Given the description of an element on the screen output the (x, y) to click on. 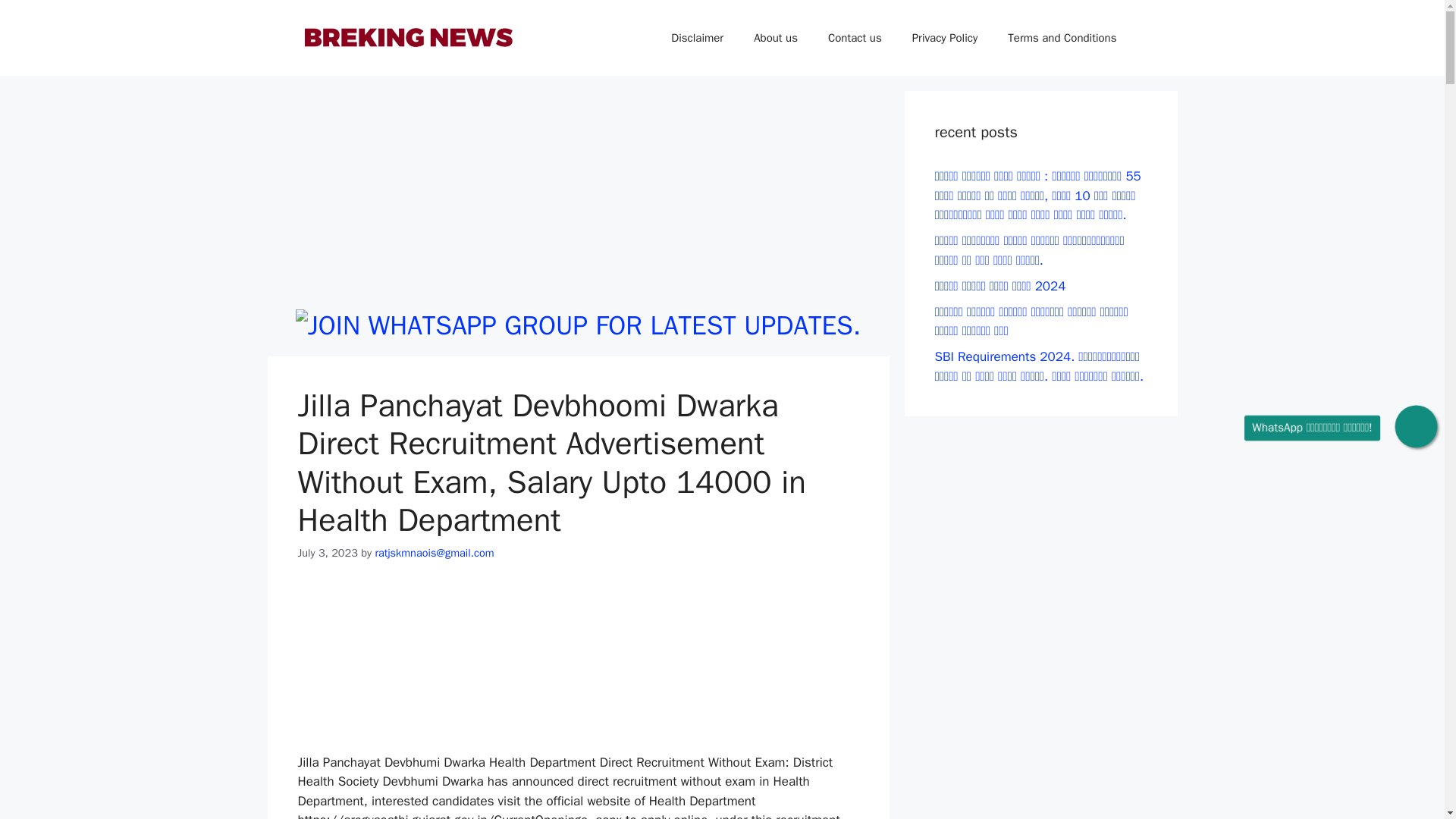
About us (775, 37)
Advertisement (577, 196)
Disclaimer (697, 37)
Contact us (854, 37)
Privacy Policy (944, 37)
Terms and Conditions (1061, 37)
Advertisement (578, 657)
